Given the description of an element on the screen output the (x, y) to click on. 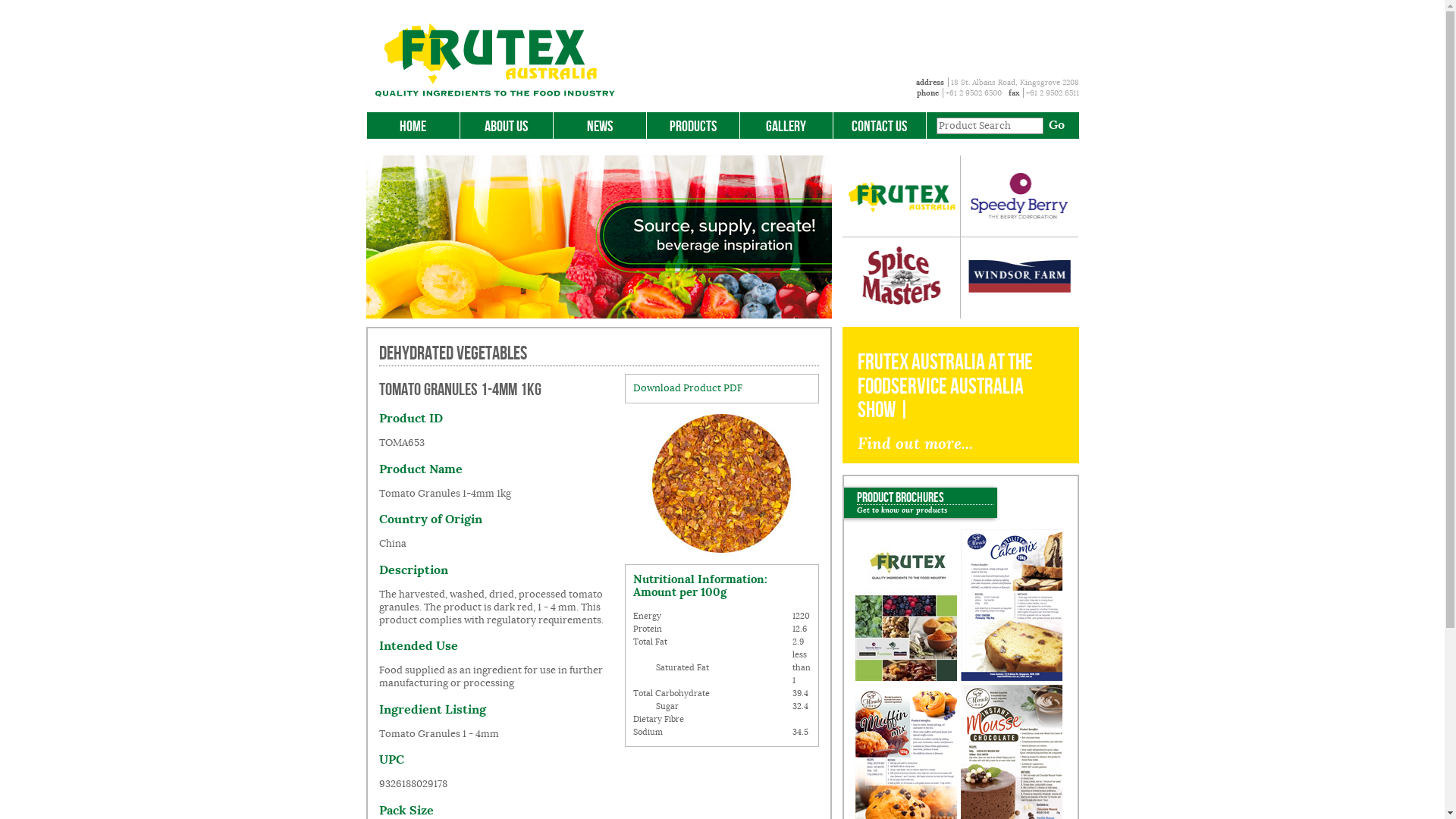
CONTACT US Element type: text (878, 125)
NEWS Element type: text (599, 125)
Frutex Foodservice Catalogue Element type: hover (906, 604)
Download Product PDF Element type: text (686, 388)
GALLERY Element type: text (786, 125)
Find out more... Element type: text (914, 442)
PRODUCTS Element type: text (692, 125)
CAKE090 Utility Cake Element type: hover (1010, 604)
FRUTEX Element type: text (493, 60)
Go Element type: text (1055, 122)
HOME Element type: text (413, 125)
beverage inspiration Element type: hover (598, 236)
Tomato Granules 1-4mm 1kg Element type: hover (721, 483)
ABOUT US Element type: text (505, 125)
